Given the description of an element on the screen output the (x, y) to click on. 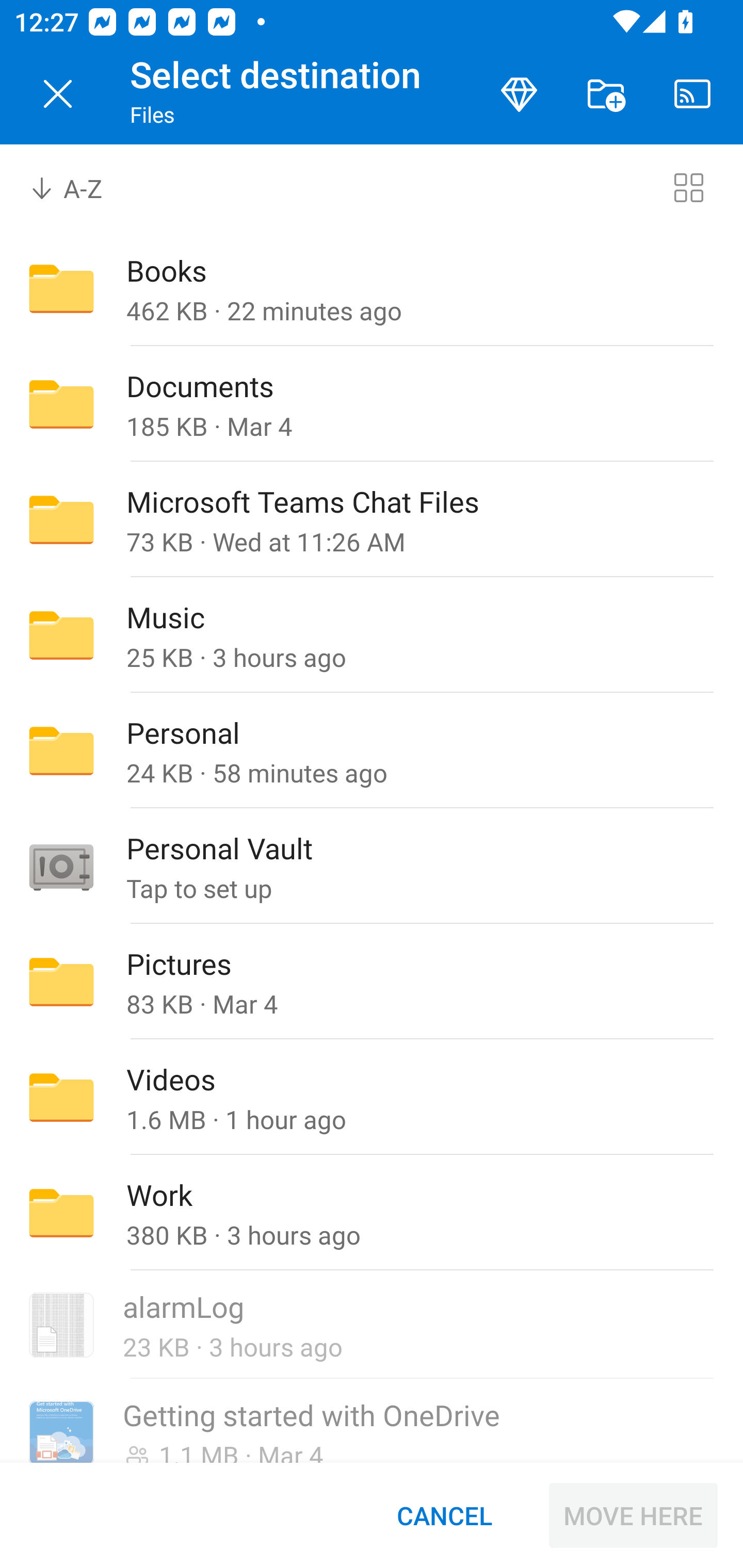
Close (57, 93)
Cast. Disconnected (692, 93)
Premium button (518, 93)
More actions button (605, 93)
A-Z Sort by combo box, sort by name, A to Z (80, 187)
Switch to tiles view (688, 187)
Folder Books 462 KB · 22 minutes ago (371, 288)
Folder Documents 185 KB · Mar 4 (371, 404)
Folder Music 25 KB · 3 hours ago (371, 635)
Folder Personal 24 KB · 58 minutes ago (371, 751)
Folder Personal Vault Tap to set up (371, 866)
Folder Pictures 83 KB · Mar 4 (371, 981)
Folder Videos 1.6 MB · 1 hour ago (371, 1097)
Folder Work 380 KB · 3 hours ago (371, 1213)
Document alarmLog 23 KB · 3 hours ago (371, 1325)
CANCEL (443, 1515)
MOVE HERE (633, 1515)
